Given the description of an element on the screen output the (x, y) to click on. 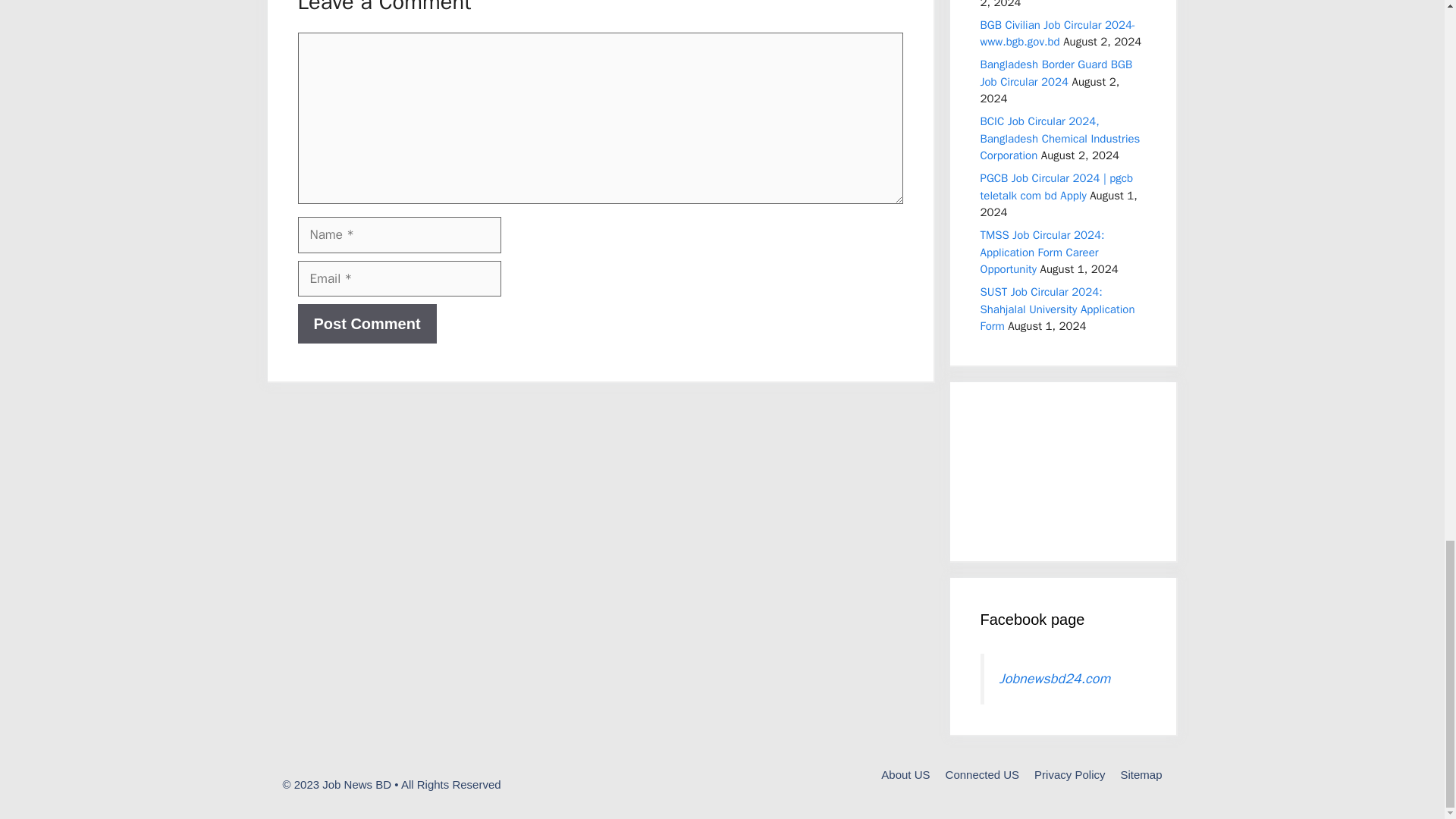
Post Comment (366, 323)
DMCA.com Protection Status (1061, 522)
Post Comment (366, 323)
